Given the description of an element on the screen output the (x, y) to click on. 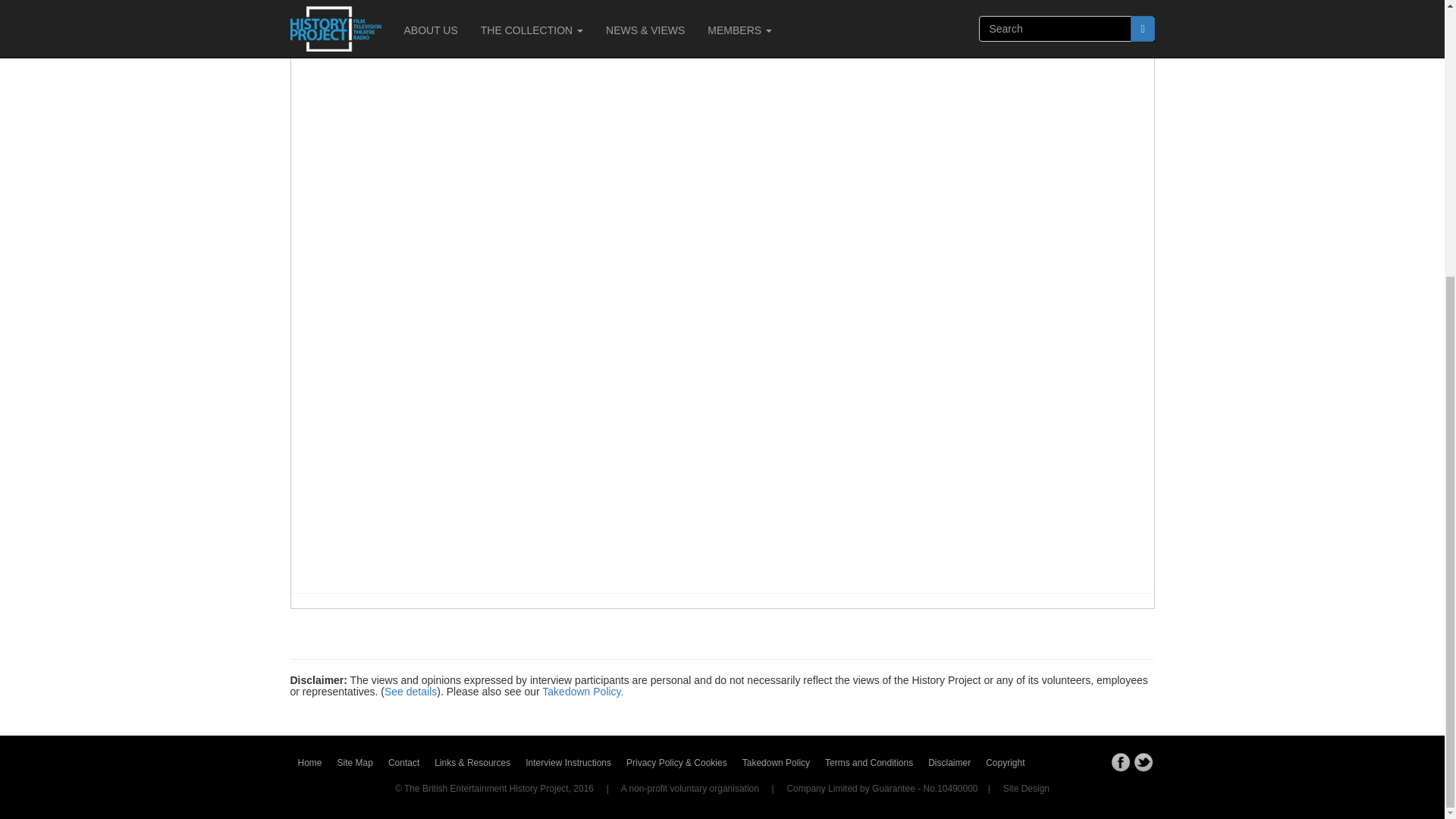
Transcript (475, 31)
Site Map showing all site sections (354, 762)
Takedown Policy. (582, 691)
Terms and Conditions (868, 762)
Interview notes (395, 31)
See details (410, 691)
Home (309, 762)
Biographical (547, 31)
